Given the description of an element on the screen output the (x, y) to click on. 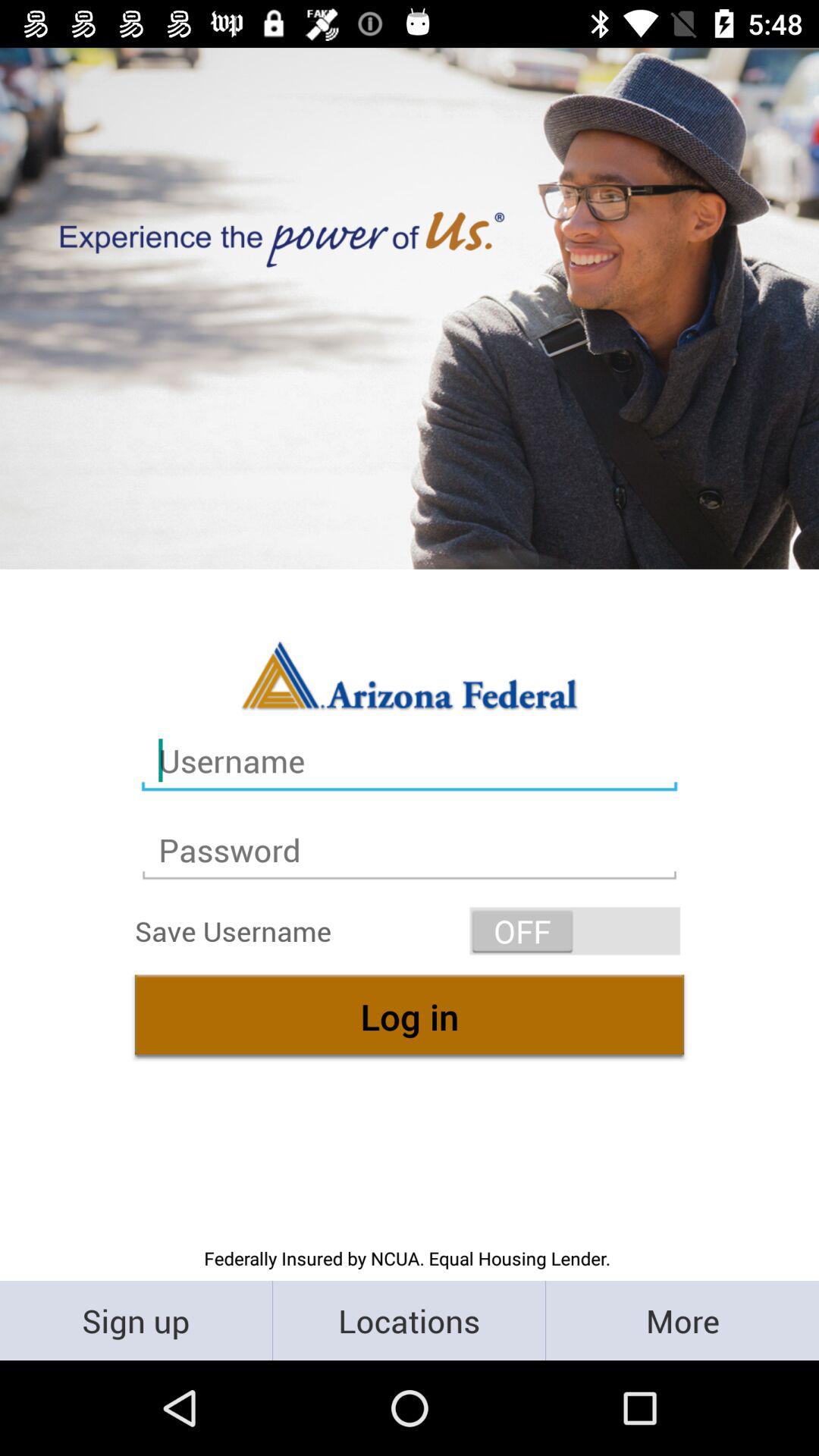
press item below federally insured by item (409, 1320)
